Given the description of an element on the screen output the (x, y) to click on. 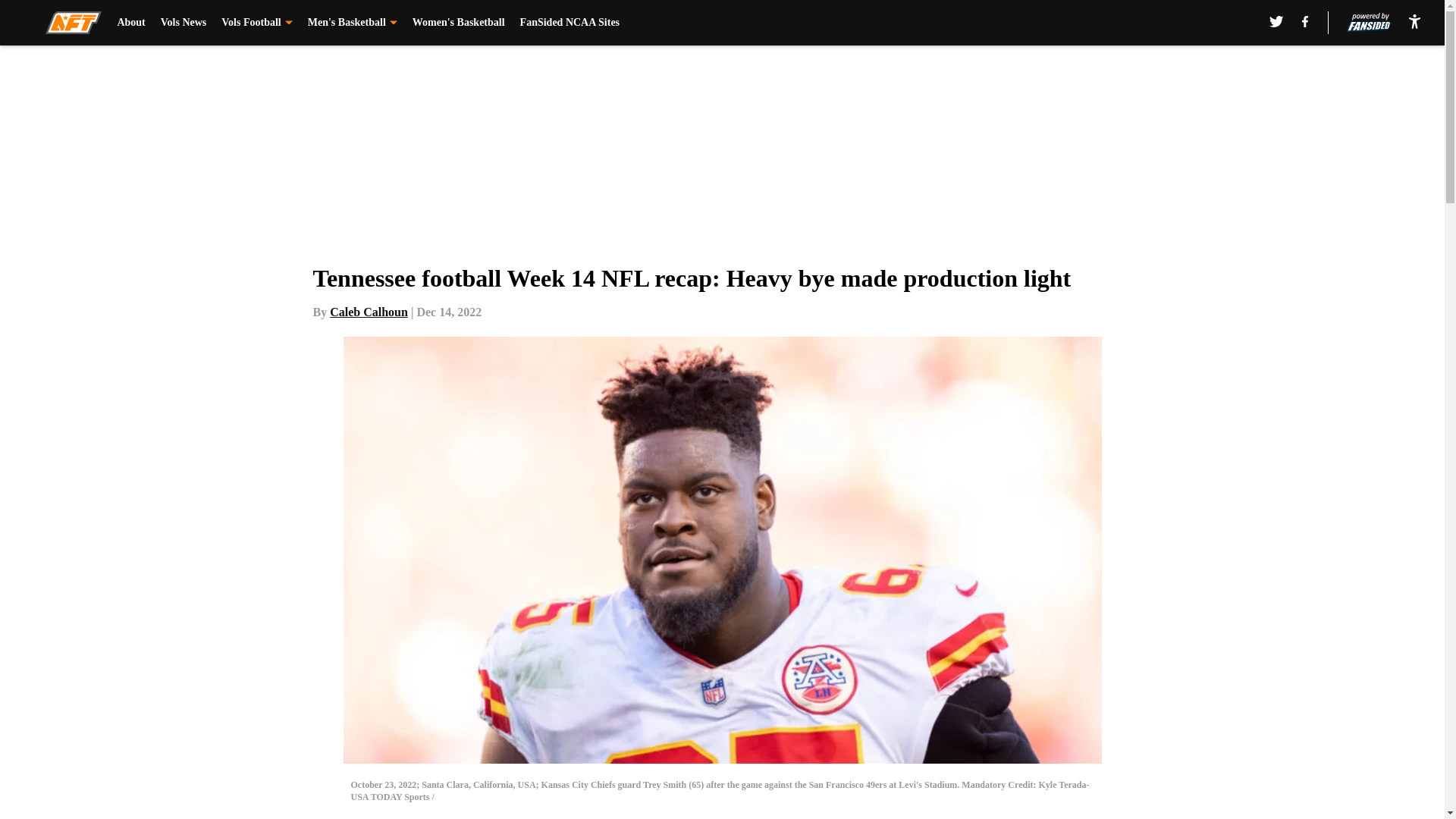
About (130, 22)
Caleb Calhoun (368, 311)
FanSided NCAA Sites (569, 22)
Women's Basketball (458, 22)
Vols News (183, 22)
